Given the description of an element on the screen output the (x, y) to click on. 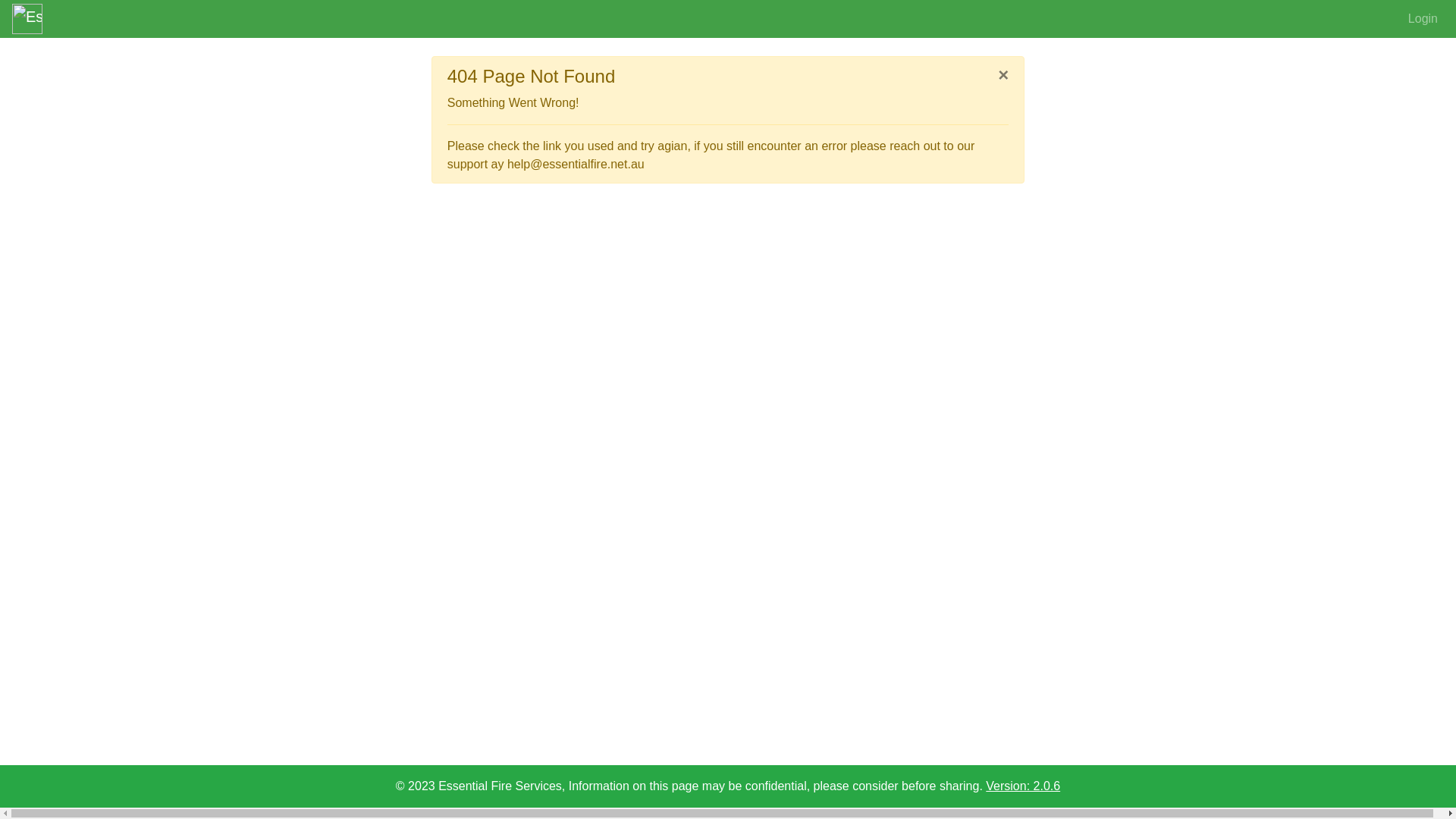
Login Element type: text (1422, 18)
Version: 2.0.6 Element type: text (1022, 785)
